Given the description of an element on the screen output the (x, y) to click on. 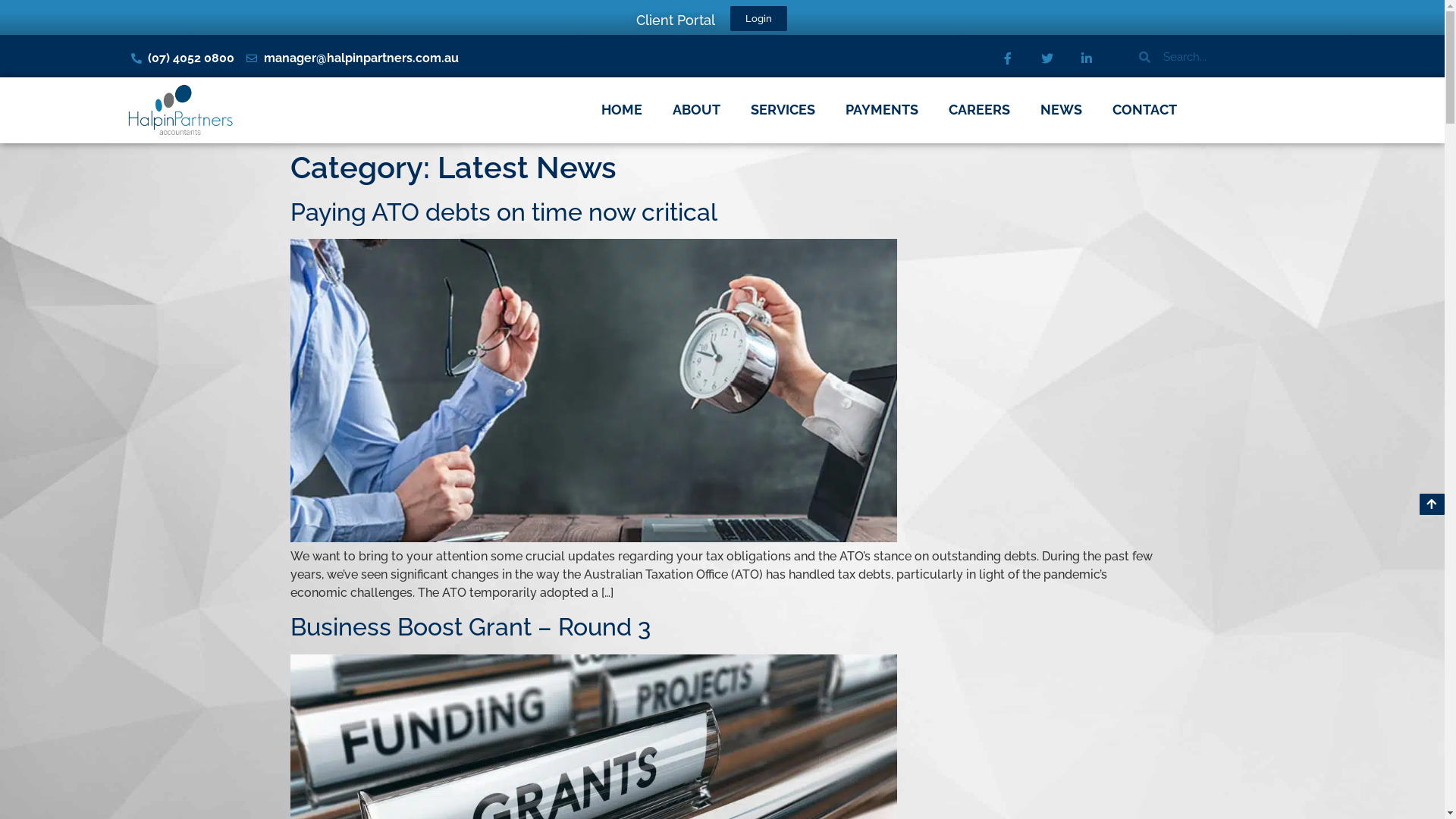
Login Element type: text (757, 18)
(07) 4052 0800 Element type: text (182, 58)
CAREERS Element type: text (979, 109)
manager@halpinpartners.com.au Element type: text (352, 58)
HOME Element type: text (621, 109)
PAYMENTS Element type: text (881, 109)
NEWS Element type: text (1061, 109)
Paying ATO debts on time now critical Element type: text (502, 211)
ABOUT Element type: text (696, 109)
CONTACT Element type: text (1144, 109)
SERVICES Element type: text (782, 109)
